Given the description of an element on the screen output the (x, y) to click on. 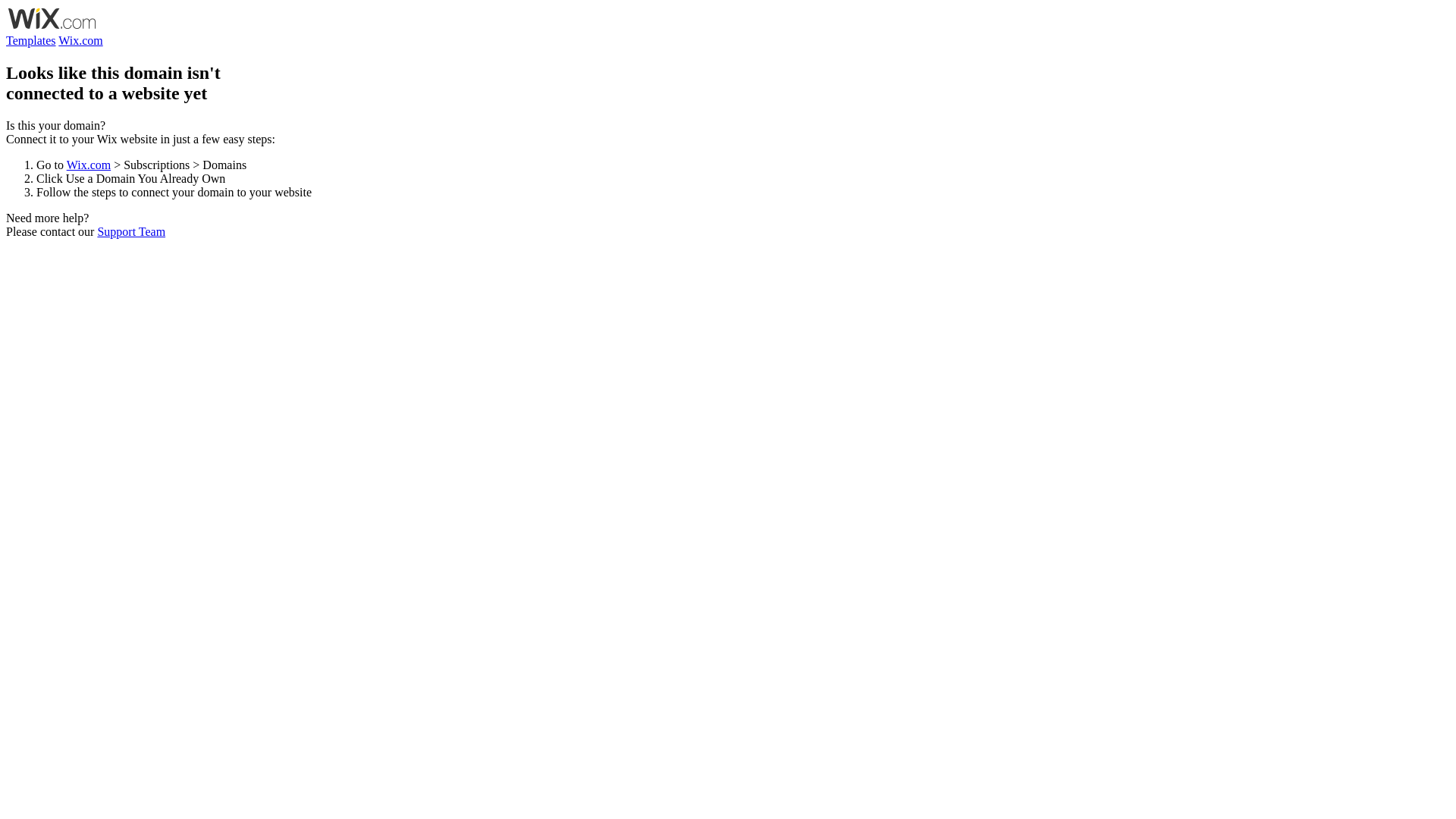
Wix.com Element type: text (88, 164)
Templates Element type: text (31, 40)
Support Team Element type: text (131, 231)
Wix.com Element type: text (80, 40)
